Given the description of an element on the screen output the (x, y) to click on. 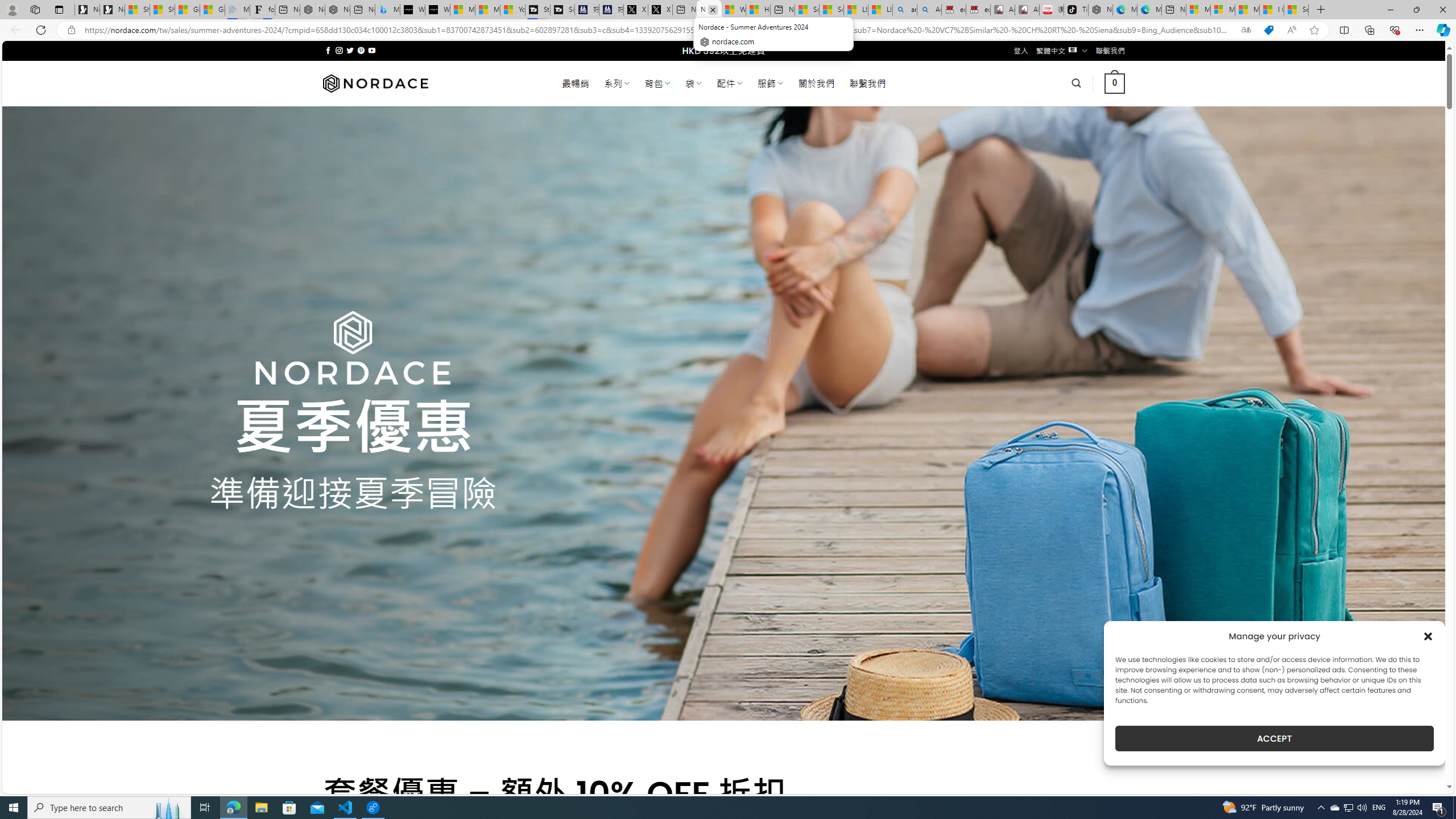
All Cubot phones (1026, 9)
amazon - Search (904, 9)
